Given the description of an element on the screen output the (x, y) to click on. 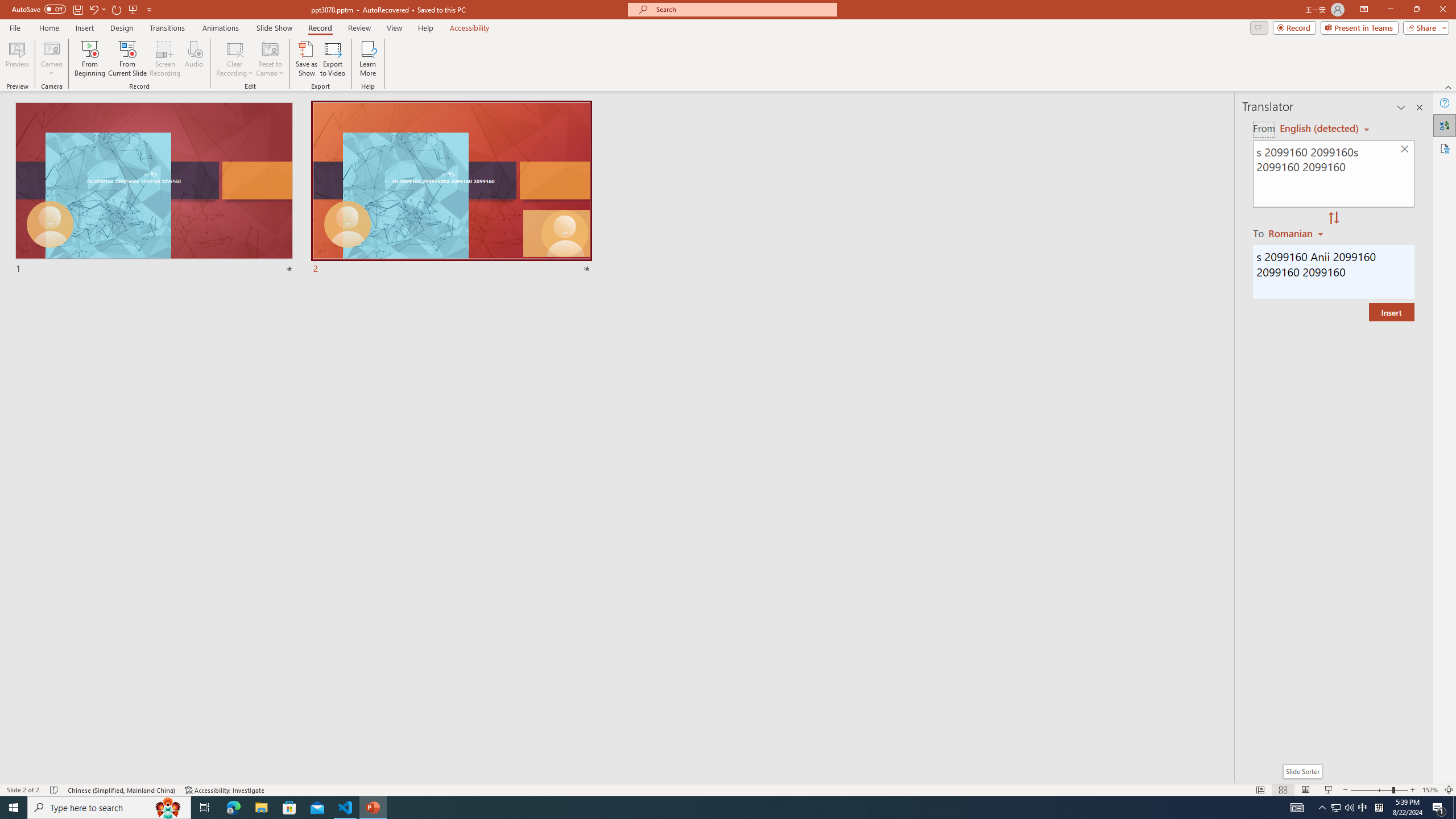
Save as Show (306, 58)
Zoom 152% (1430, 790)
